Given the description of an element on the screen output the (x, y) to click on. 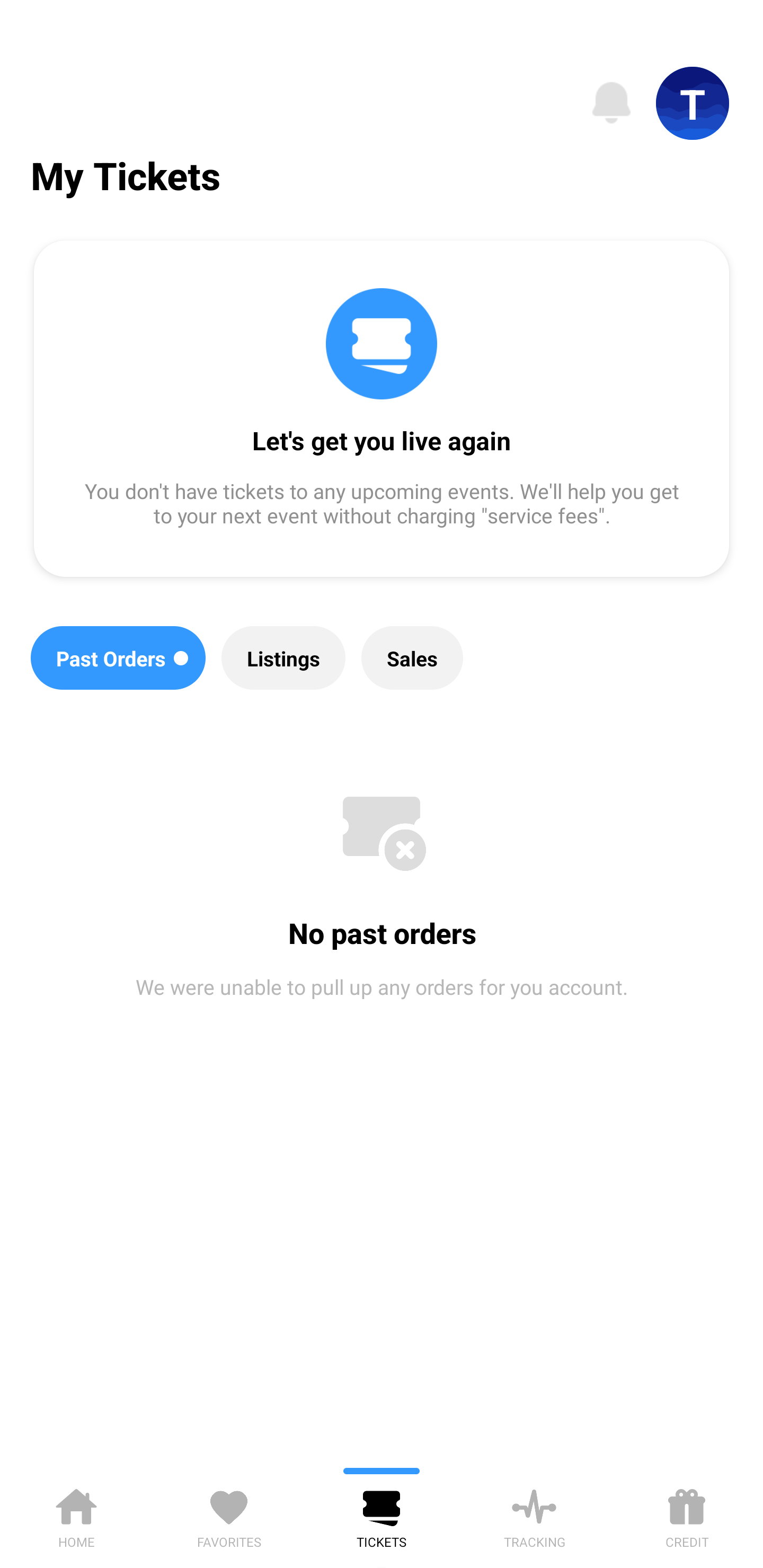
T (692, 103)
Past Orders (117, 657)
Listings (283, 657)
Sales (412, 657)
HOME (76, 1515)
FAVORITES (228, 1515)
TICKETS (381, 1515)
TRACKING (533, 1515)
CREDIT (686, 1515)
